Given the description of an element on the screen output the (x, y) to click on. 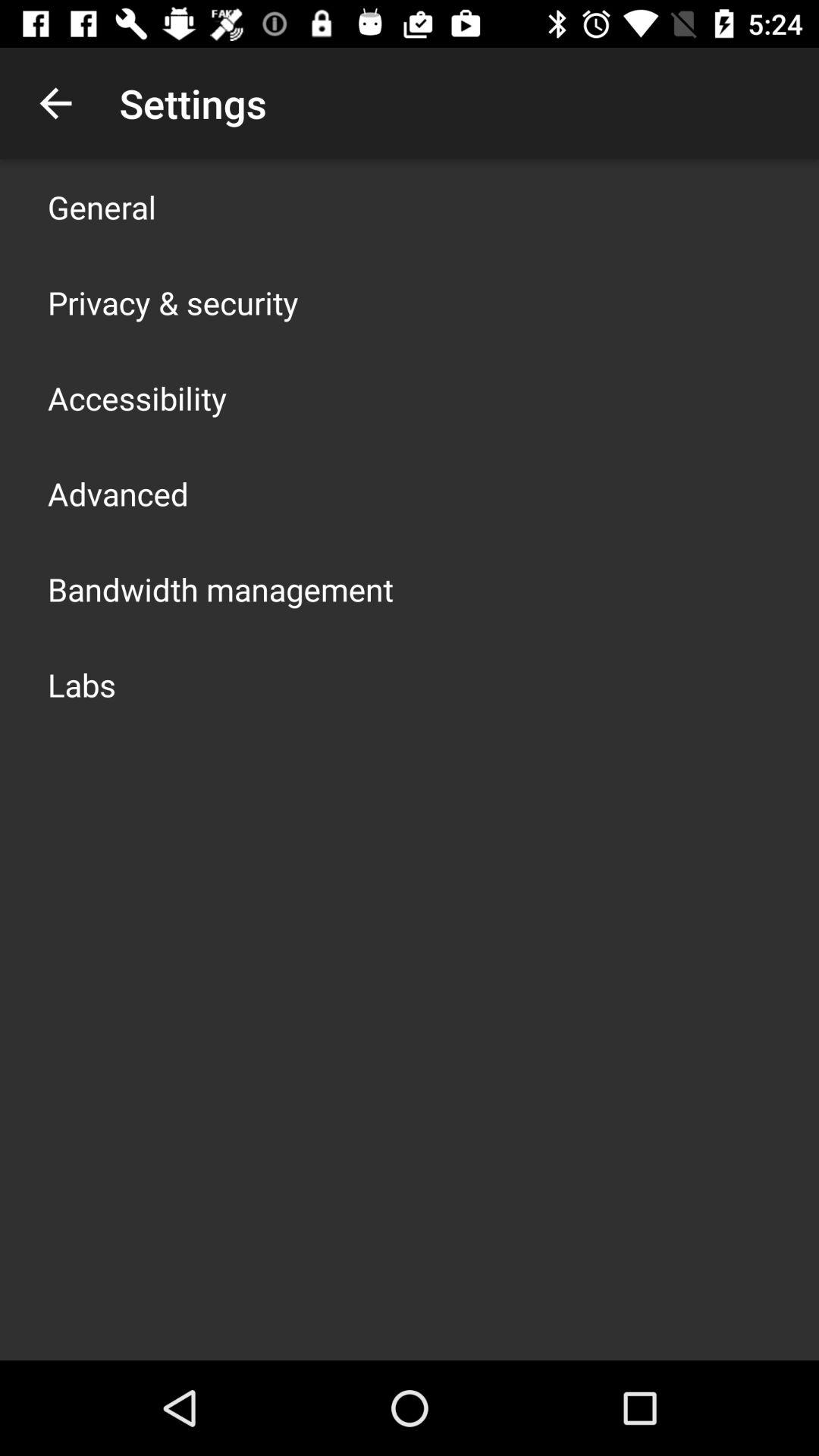
select the icon above the advanced (136, 397)
